Given the description of an element on the screen output the (x, y) to click on. 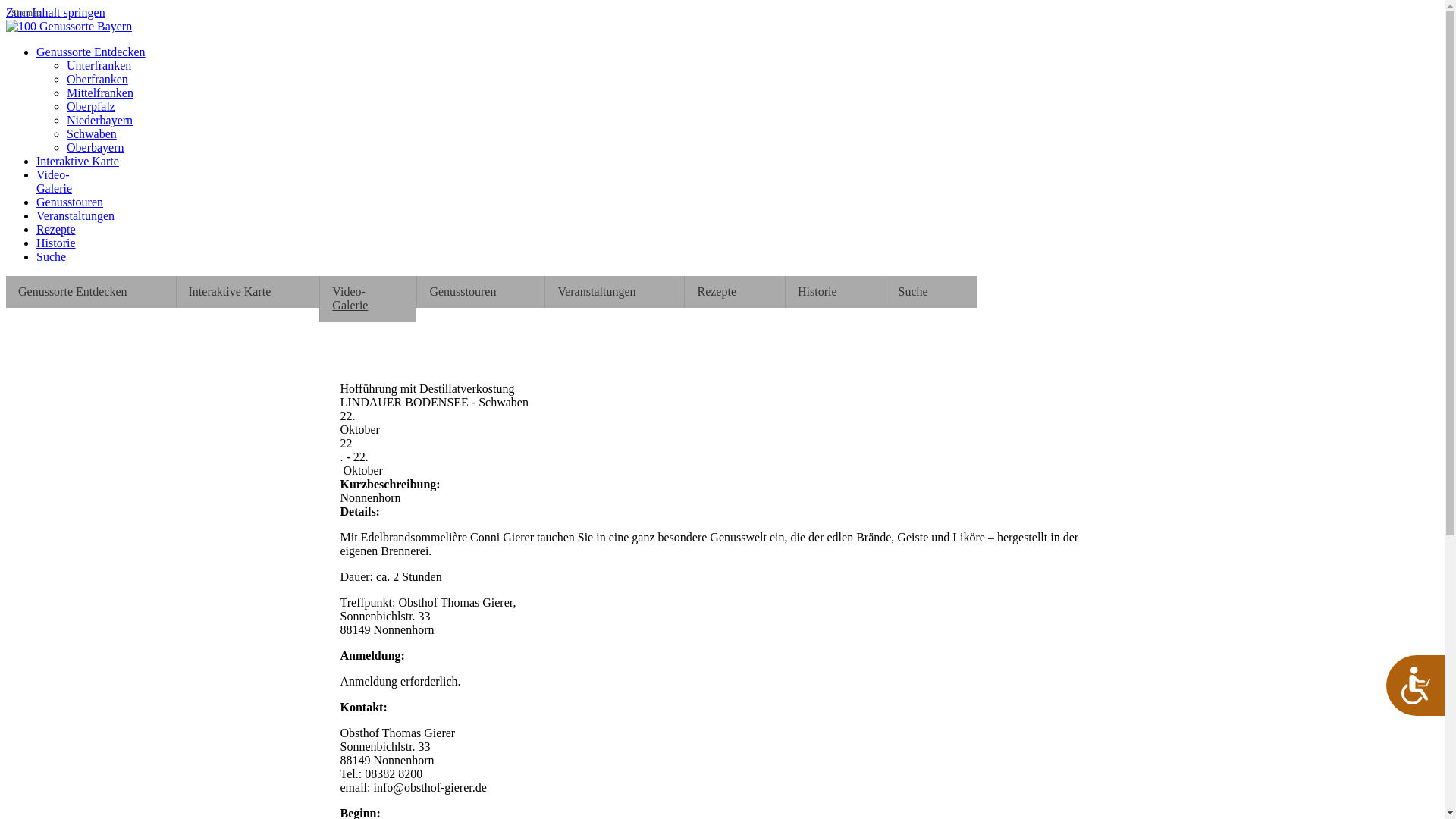
Video-
Galerie Element type: text (54, 181)
Mittelfranken Element type: text (99, 92)
Zum Inhalt springen Element type: text (55, 12)
Suche Element type: text (931, 291)
Oberpfalz Element type: text (90, 106)
Zug&auml;nglichkeit Element type: text (1415, 685)
Oberfranken Element type: text (97, 78)
Schwaben Element type: text (91, 133)
Historie Element type: text (835, 291)
Suche Element type: text (50, 256)
Historie Element type: text (55, 242)
Niederbayern Element type: text (99, 119)
Genusstouren Element type: text (480, 291)
Veranstaltungen Element type: text (614, 291)
Genussorte Entdecken Element type: text (90, 291)
Sitemap Element type: text (25, 12)
Rezepte Element type: text (55, 228)
Genusstouren Element type: text (69, 201)
Veranstaltungen Element type: text (75, 215)
Interaktive Karte Element type: text (77, 160)
Oberbayern Element type: text (95, 147)
Rezepte Element type: text (734, 291)
Interaktive Karte Element type: text (248, 291)
Unterfranken Element type: text (98, 65)
Video-
Galerie Element type: text (368, 298)
Genussorte Entdecken Element type: text (90, 51)
